Given the description of an element on the screen output the (x, y) to click on. 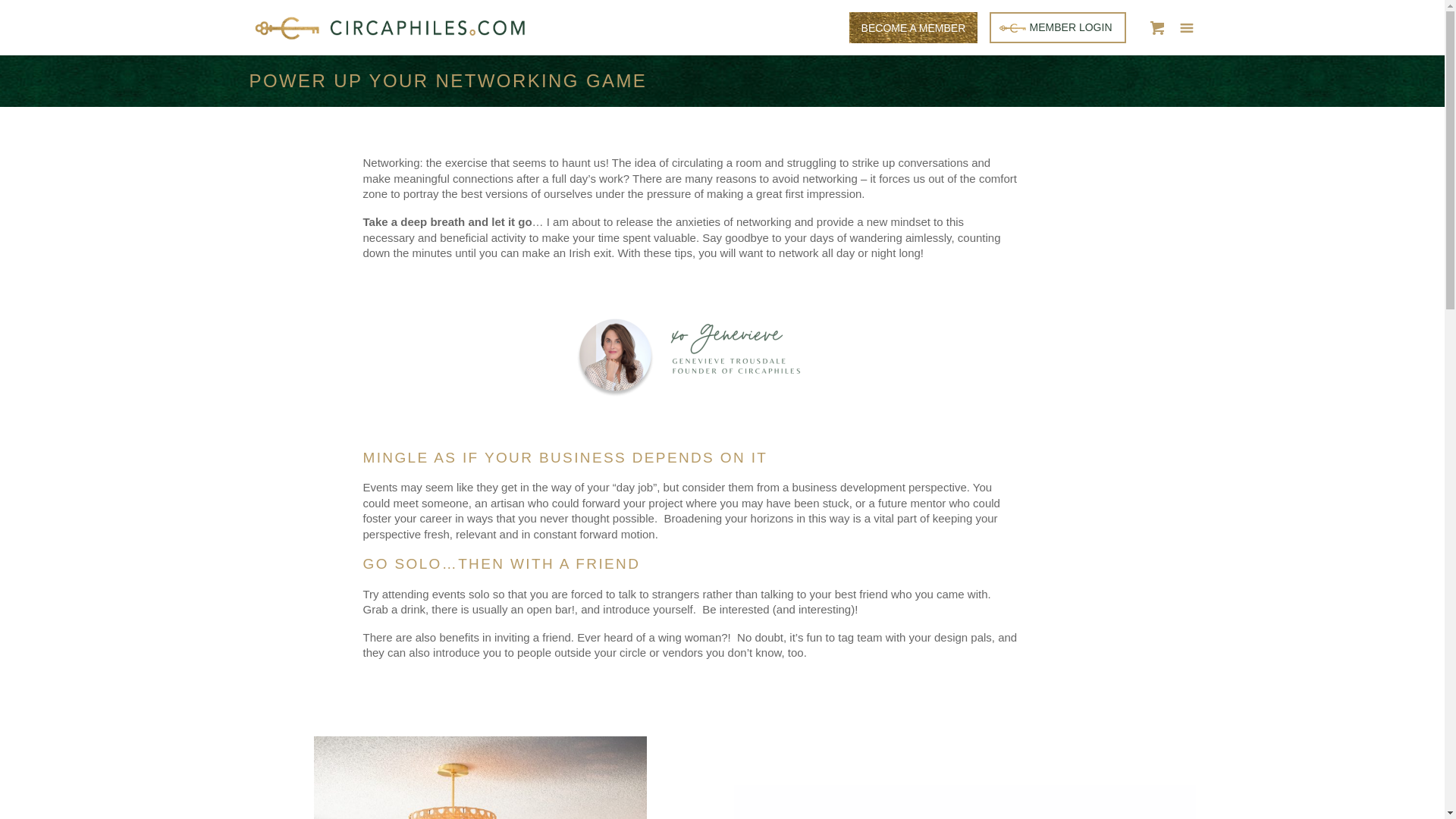
7d76a3c5-7e90-4d50-9f75-7b459bb3b78d-1 (689, 354)
Genevieve Trousdale (480, 777)
MEMBER LOGIN (1057, 27)
BECOME A MEMBER (913, 27)
